Given the description of an element on the screen output the (x, y) to click on. 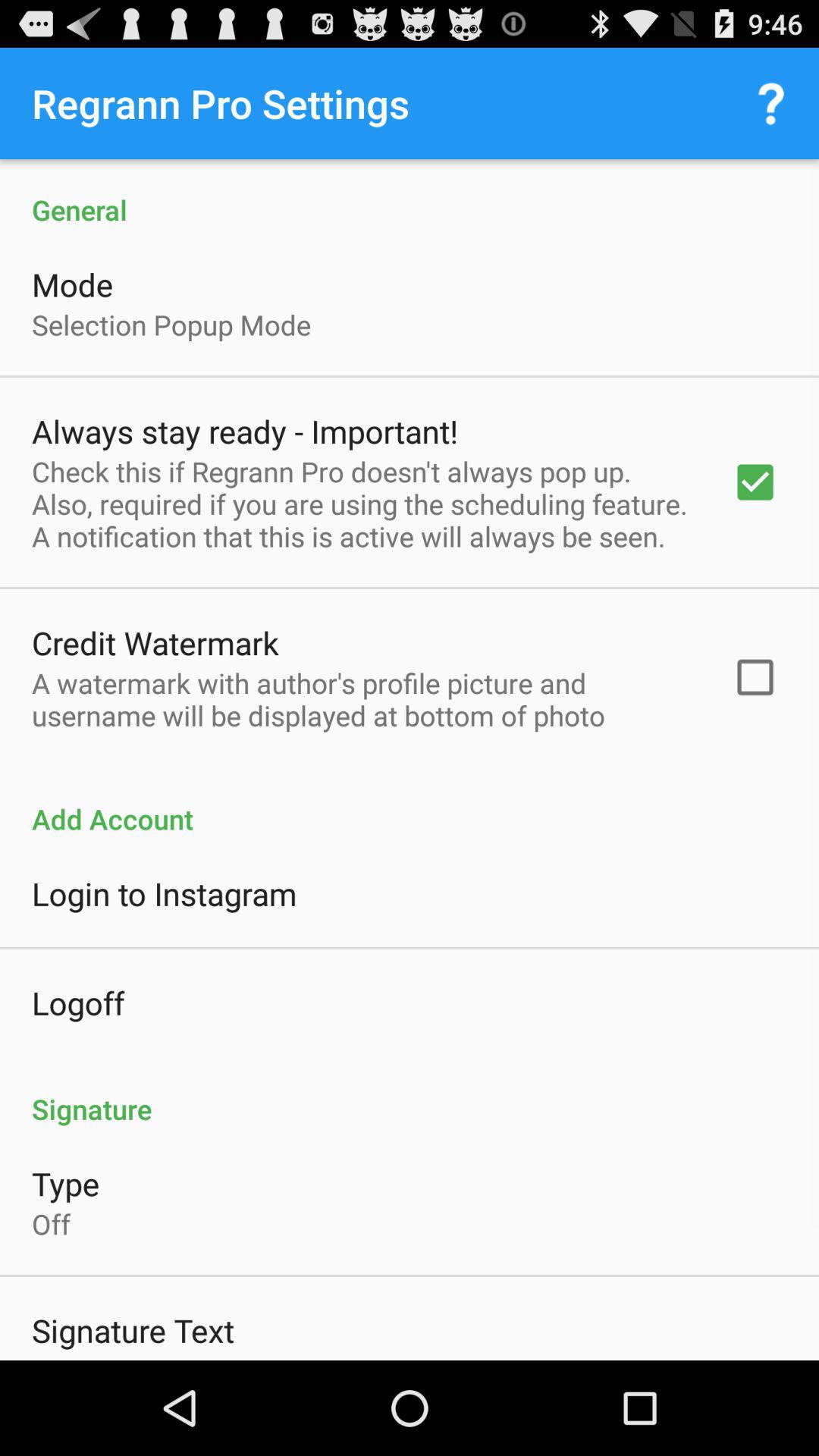
select the add account (409, 802)
